Given the description of an element on the screen output the (x, y) to click on. 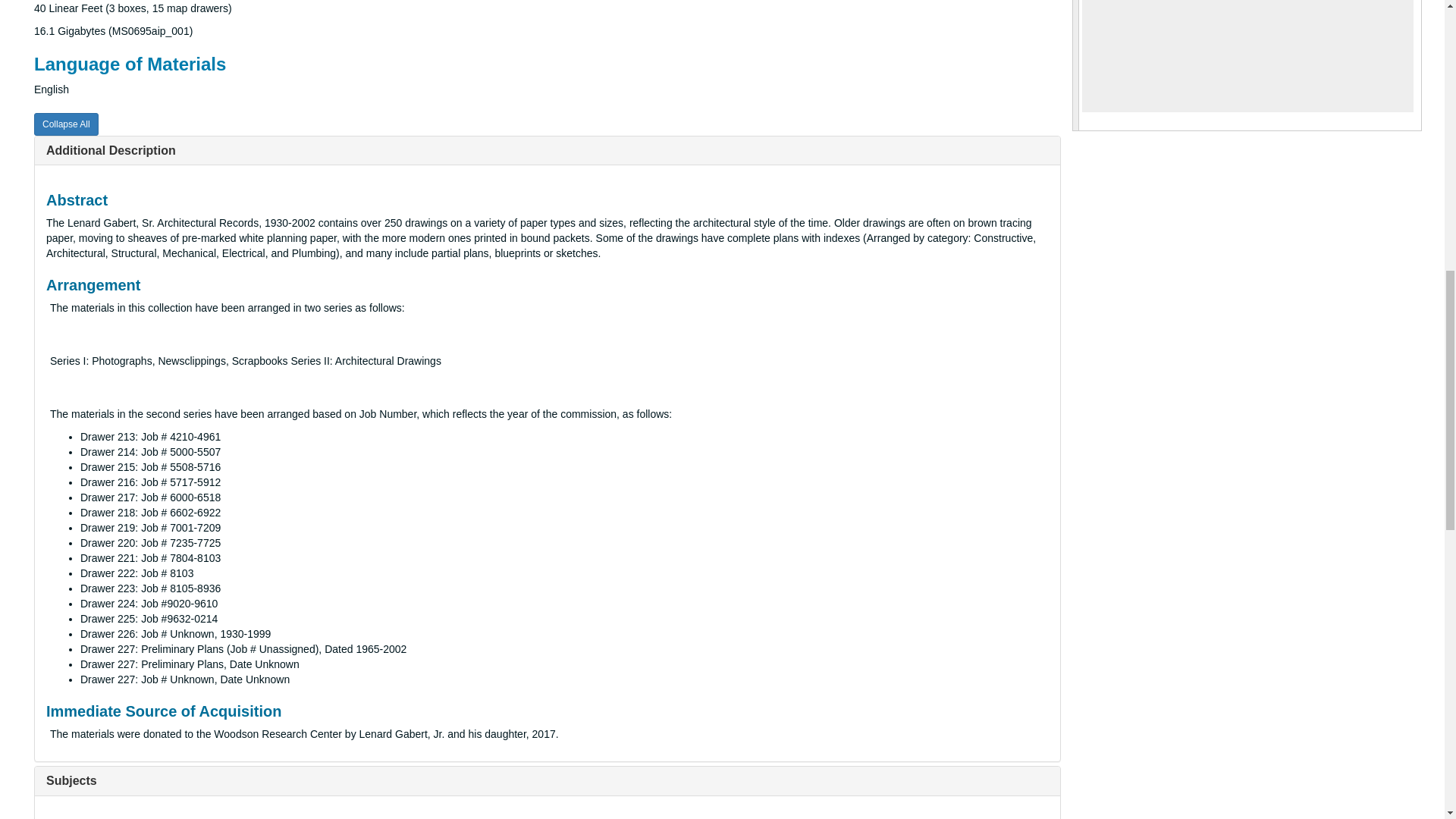
Additional Description (111, 150)
Collapse All (66, 124)
Subjects (71, 780)
